Given the description of an element on the screen output the (x, y) to click on. 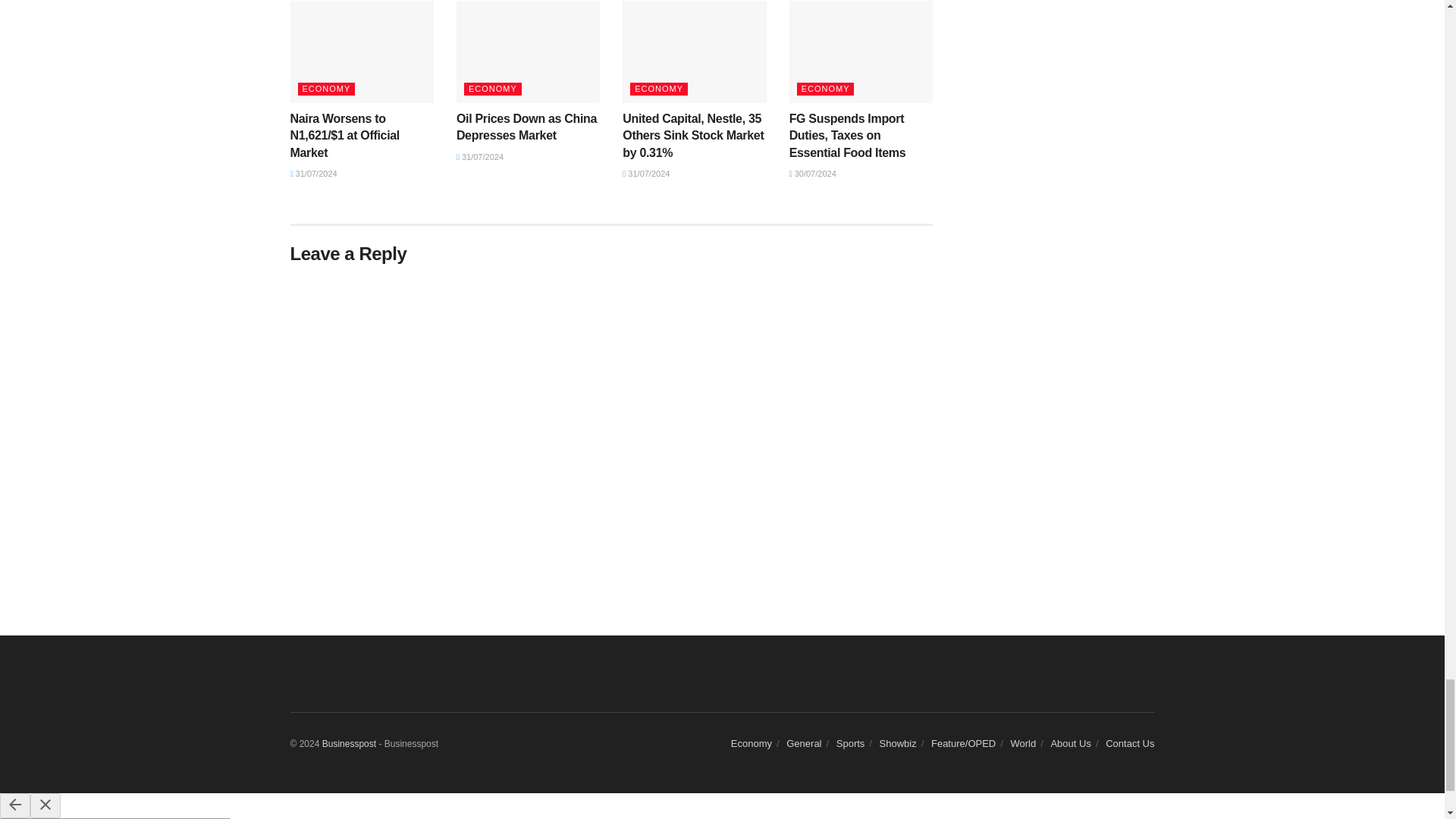
Businesspost (348, 743)
